Given the description of an element on the screen output the (x, y) to click on. 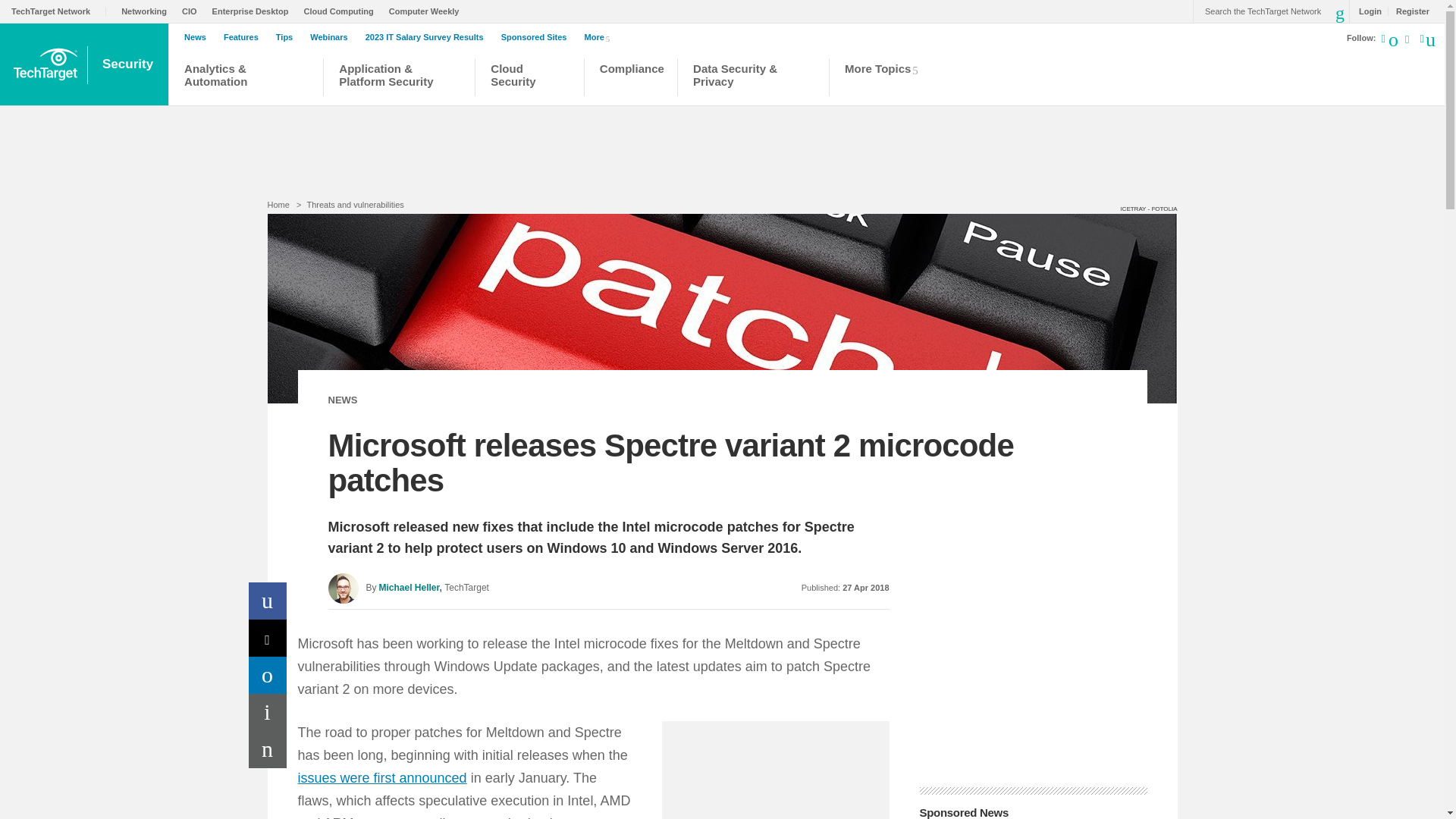
Computer Weekly (427, 10)
Login (1366, 10)
Follow Eye on Tech on TikTok (1414, 40)
TechTarget Network (58, 10)
CIO (193, 10)
Cloud Security (528, 79)
2023 IT Salary Survey Results (428, 36)
More Topics (885, 79)
Cloud Computing (341, 10)
Compliance (630, 79)
Features (245, 36)
Register (1408, 10)
Enterprise Desktop (254, 10)
Security (129, 64)
News (199, 36)
